Given the description of an element on the screen output the (x, y) to click on. 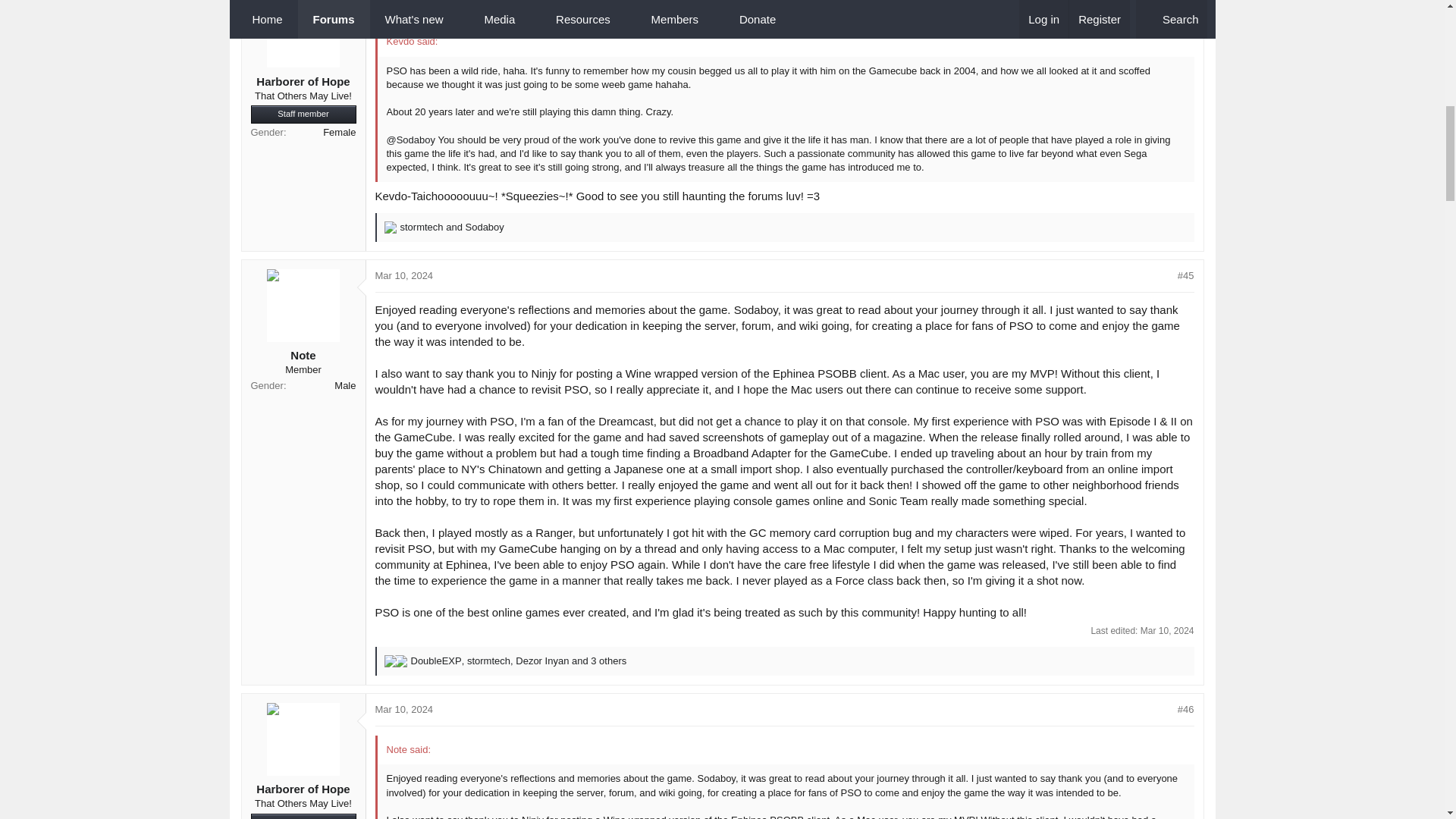
Like (390, 227)
Mar 10, 2024 at 4:16 PM (403, 3)
Mar 10, 2024 at 7:08 PM (403, 275)
